Given the description of an element on the screen output the (x, y) to click on. 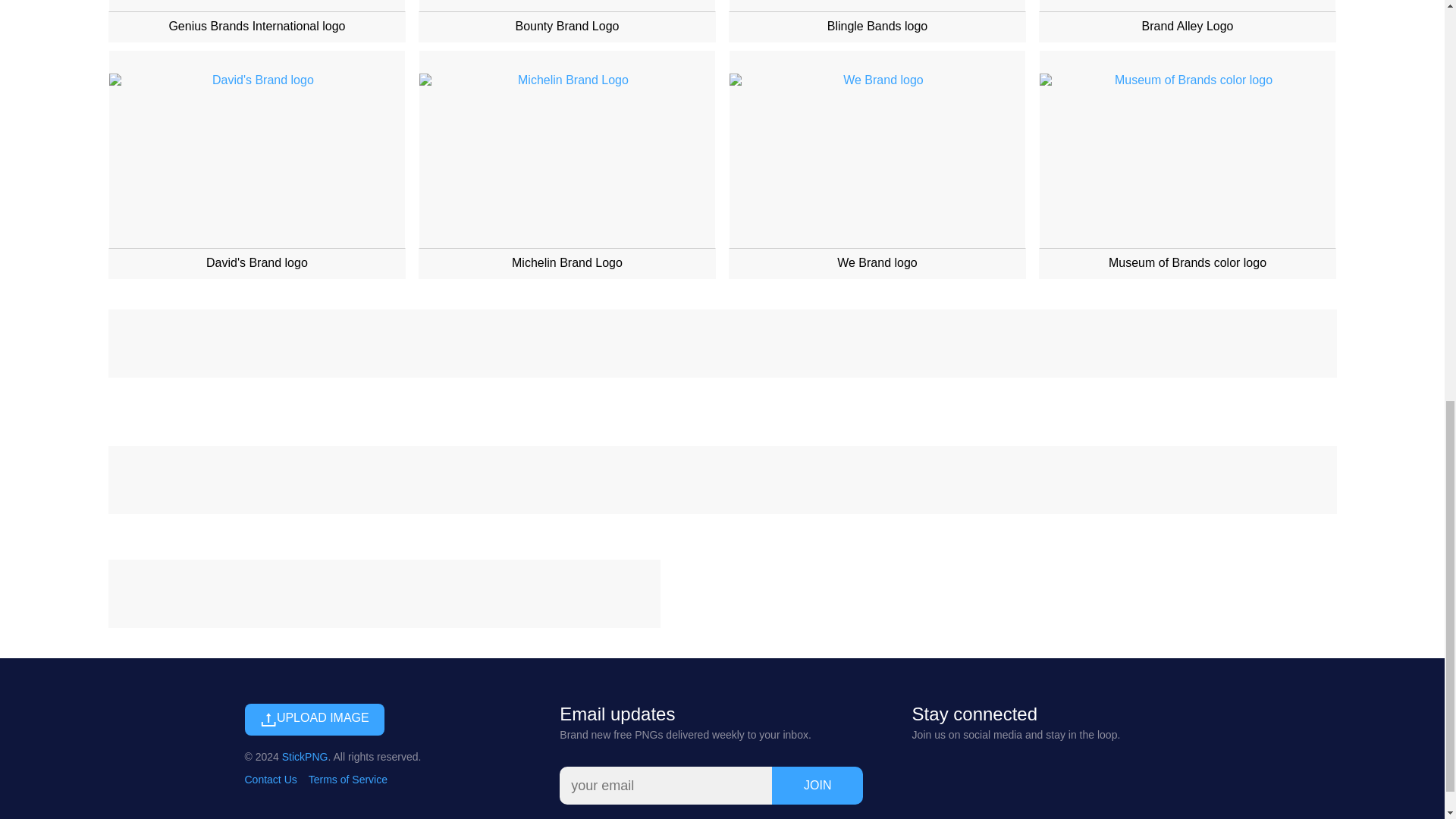
JOIN (817, 785)
Contact Us (270, 779)
StickPNG (305, 756)
UPLOAD IMAGE (314, 719)
Terms of Service (347, 779)
